Given the description of an element on the screen output the (x, y) to click on. 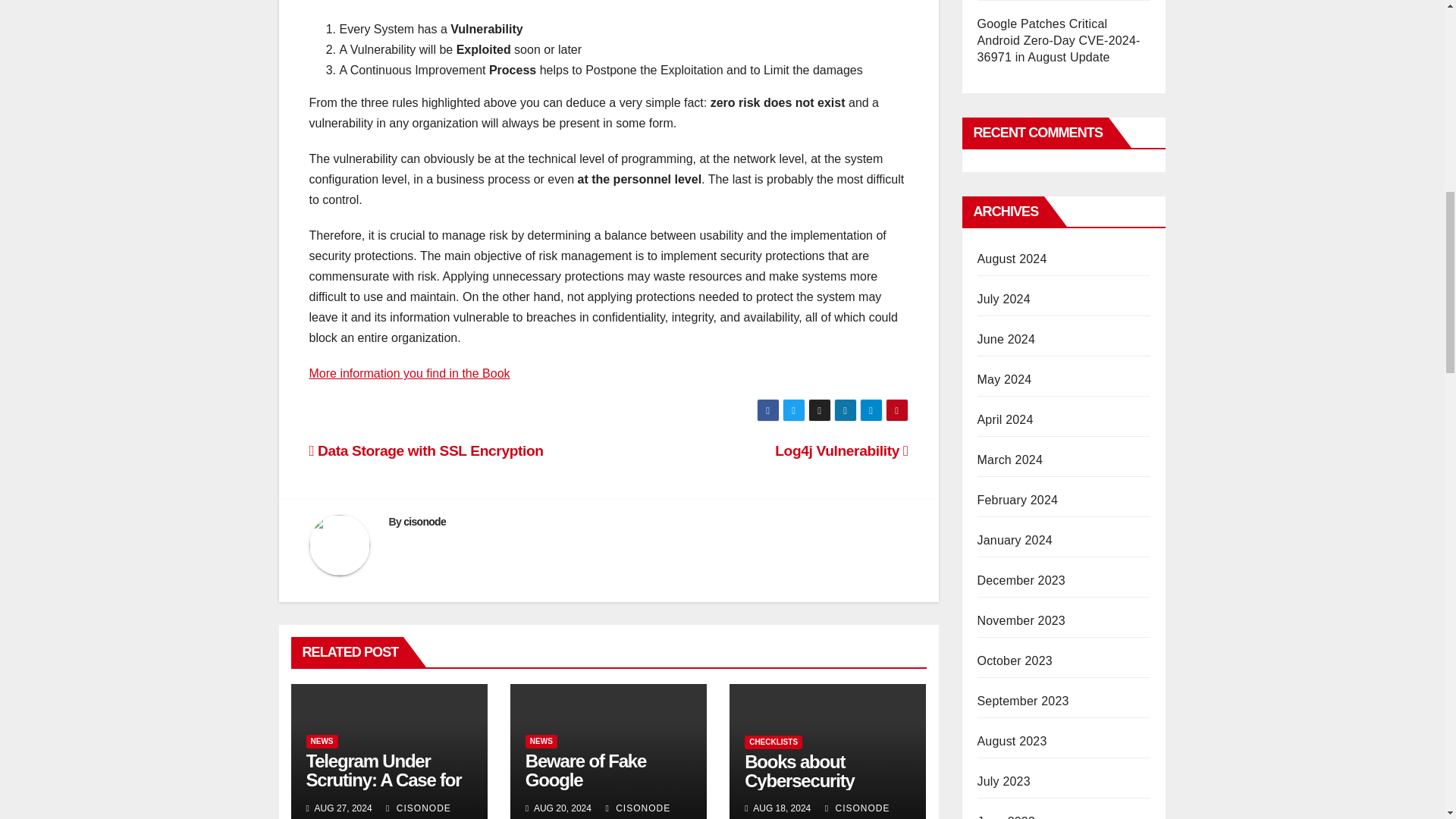
More information you find in the Book (409, 373)
Log4j Vulnerability (840, 450)
NEWS (321, 741)
Data Storage with SSL Encryption (425, 450)
Permalink to: Books about Cybersecurity (798, 771)
cisonode (424, 521)
